Given the description of an element on the screen output the (x, y) to click on. 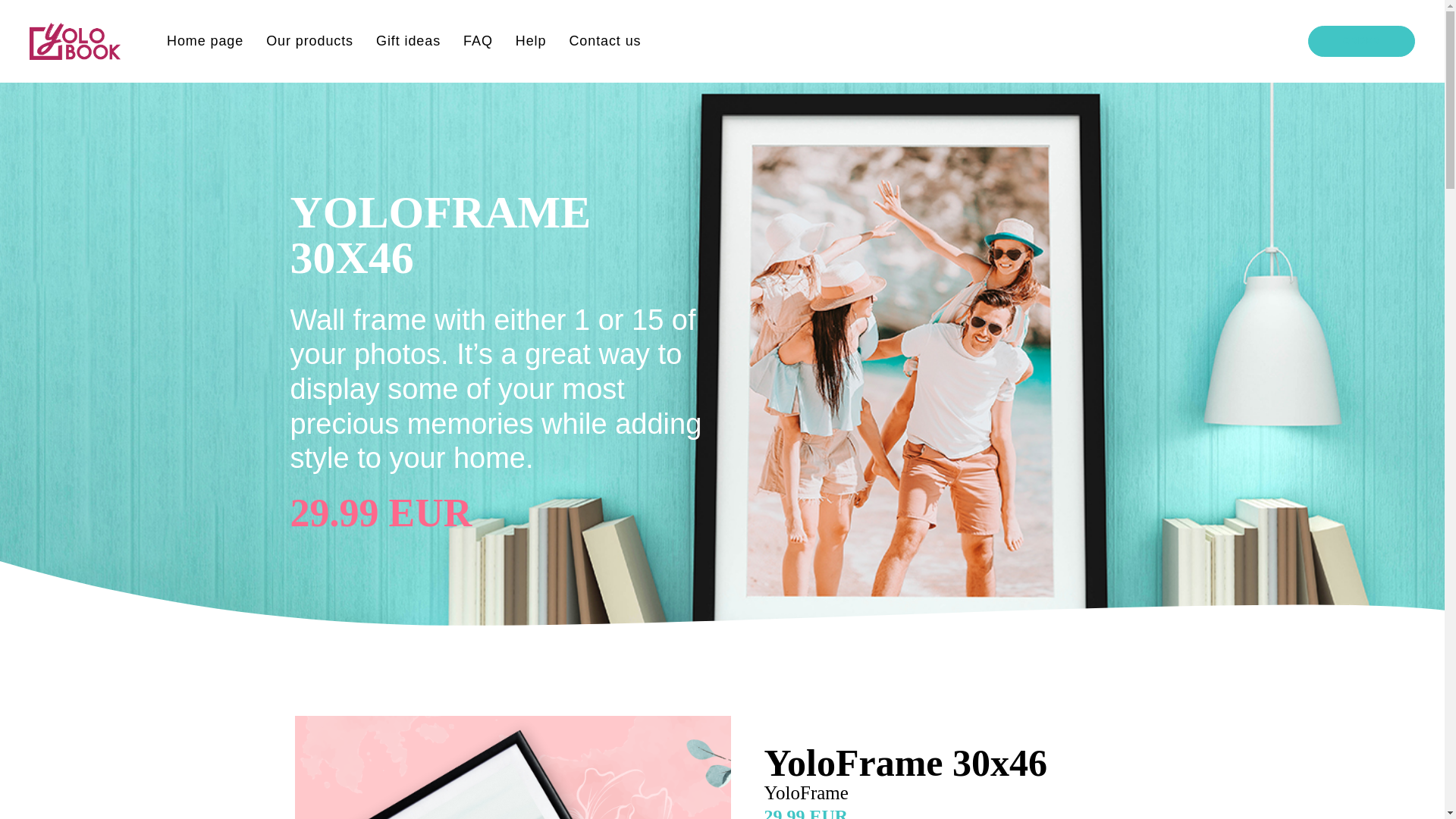
Our products (309, 41)
ORDER (1361, 40)
Gift ideas (408, 41)
Contact us (604, 41)
Home page (204, 41)
